Given the description of an element on the screen output the (x, y) to click on. 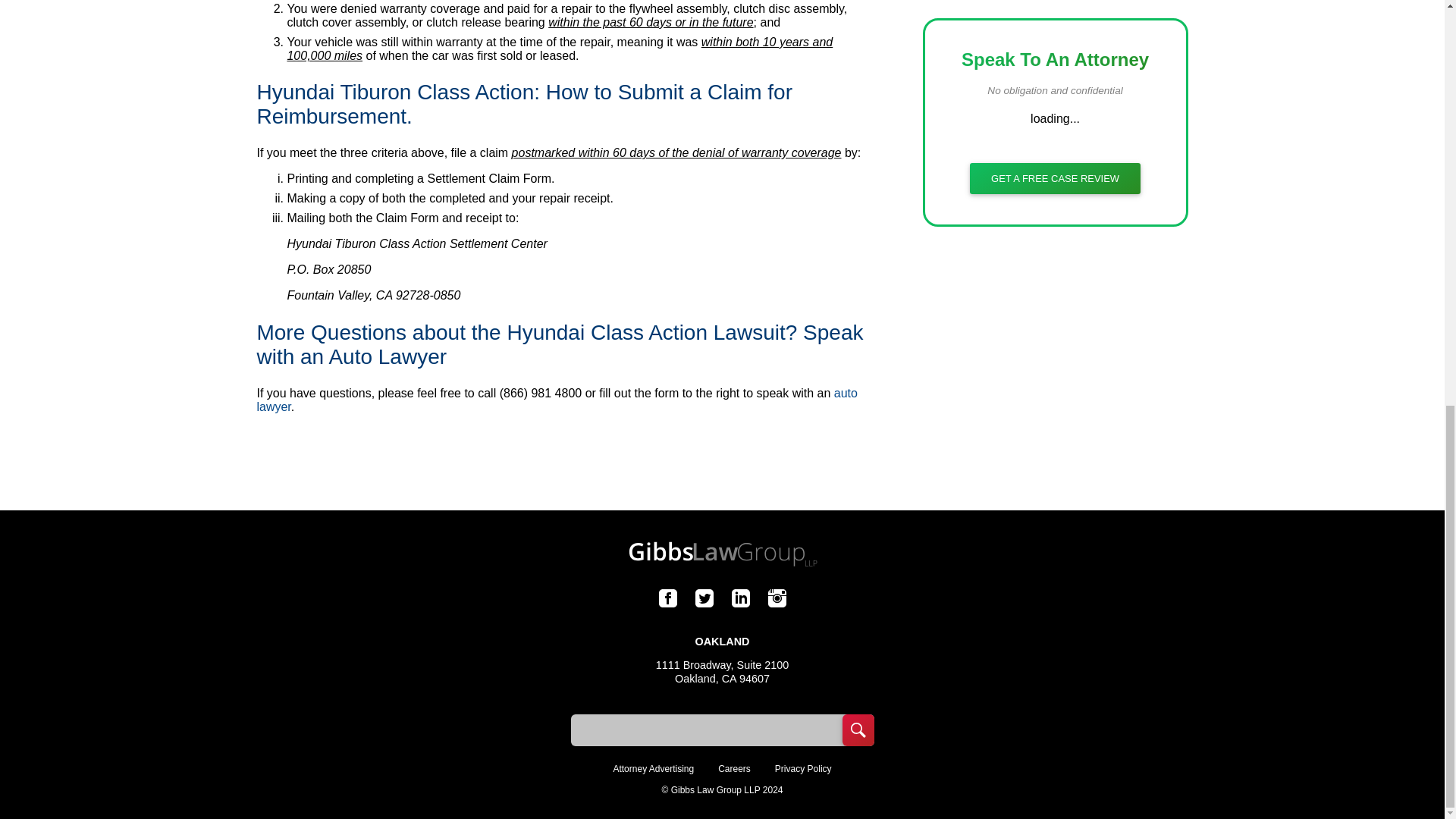
Careers (734, 768)
Privacy Policy (802, 768)
Attorney Advertising (653, 768)
auto lawyer (556, 399)
